Given the description of an element on the screen output the (x, y) to click on. 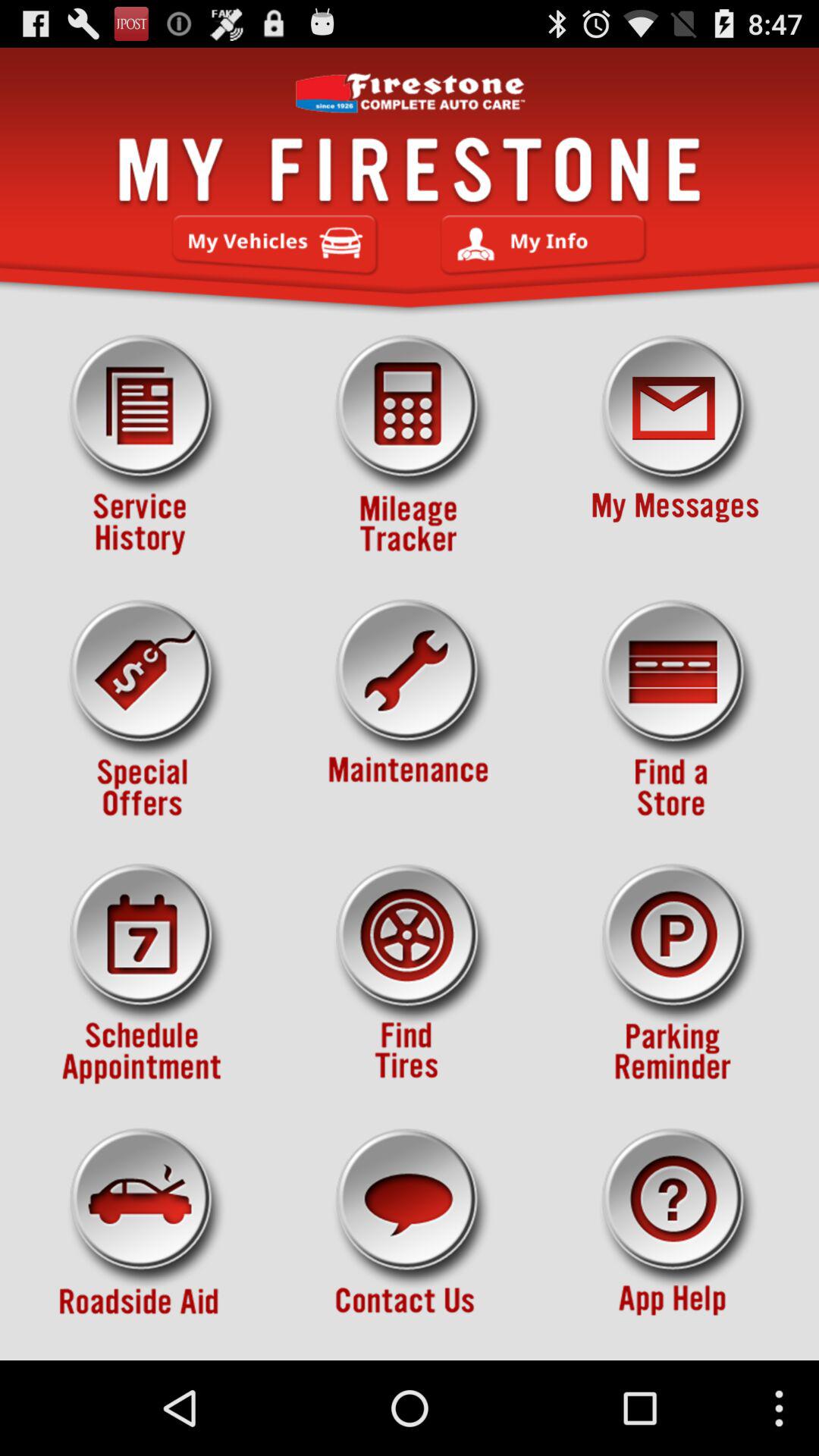
schedule appointment button (143, 974)
